Given the description of an element on the screen output the (x, y) to click on. 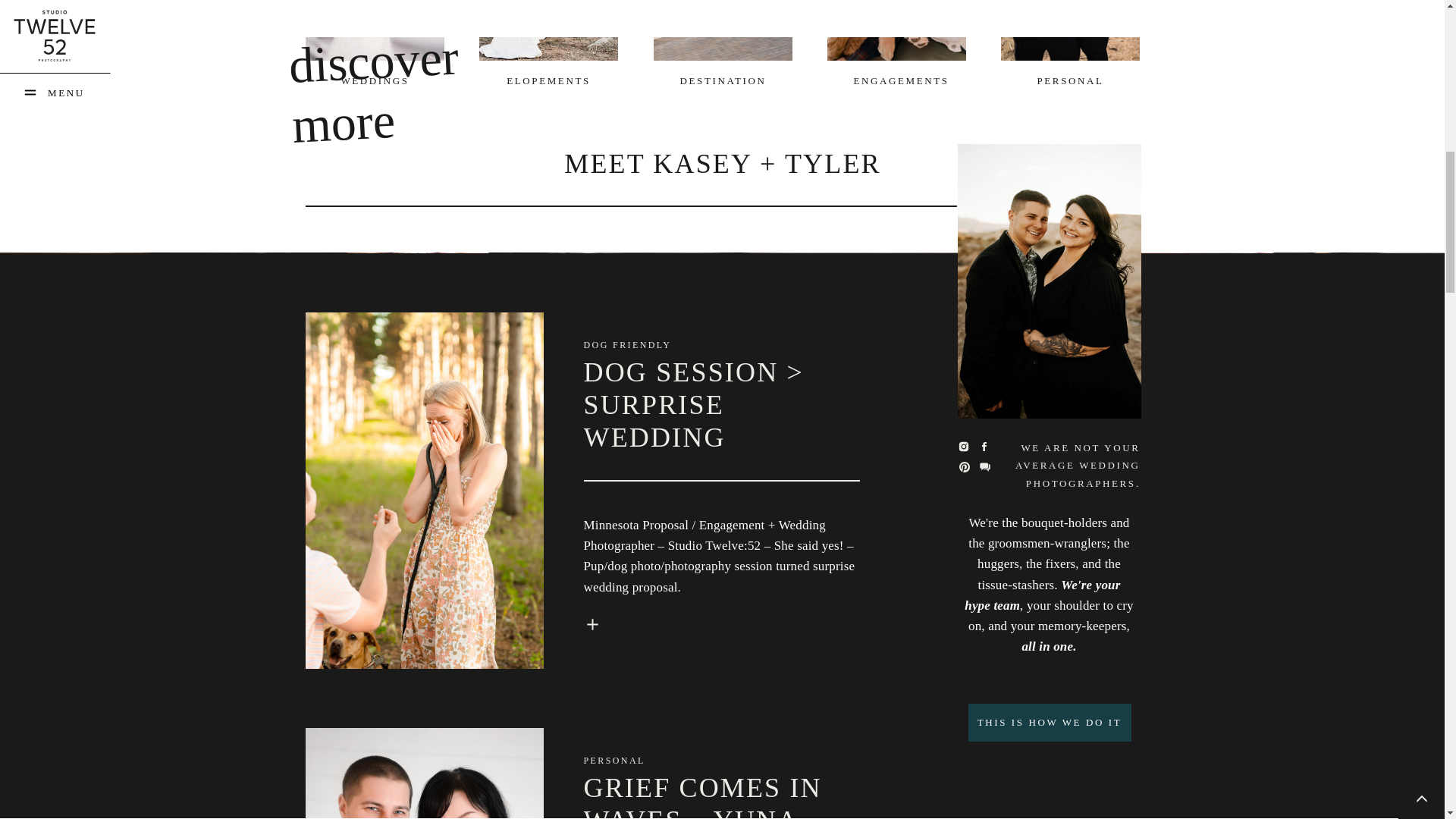
THIS IS HOW WE DO IT (1050, 720)
ENGAGEMENTS (896, 79)
WEDDINGS (375, 79)
DOG FRIENDLY (627, 344)
PERSONAL (614, 760)
DESTINATION (722, 79)
PERSONAL (1069, 79)
ELOPEMENTS (548, 79)
